Given the description of an element on the screen output the (x, y) to click on. 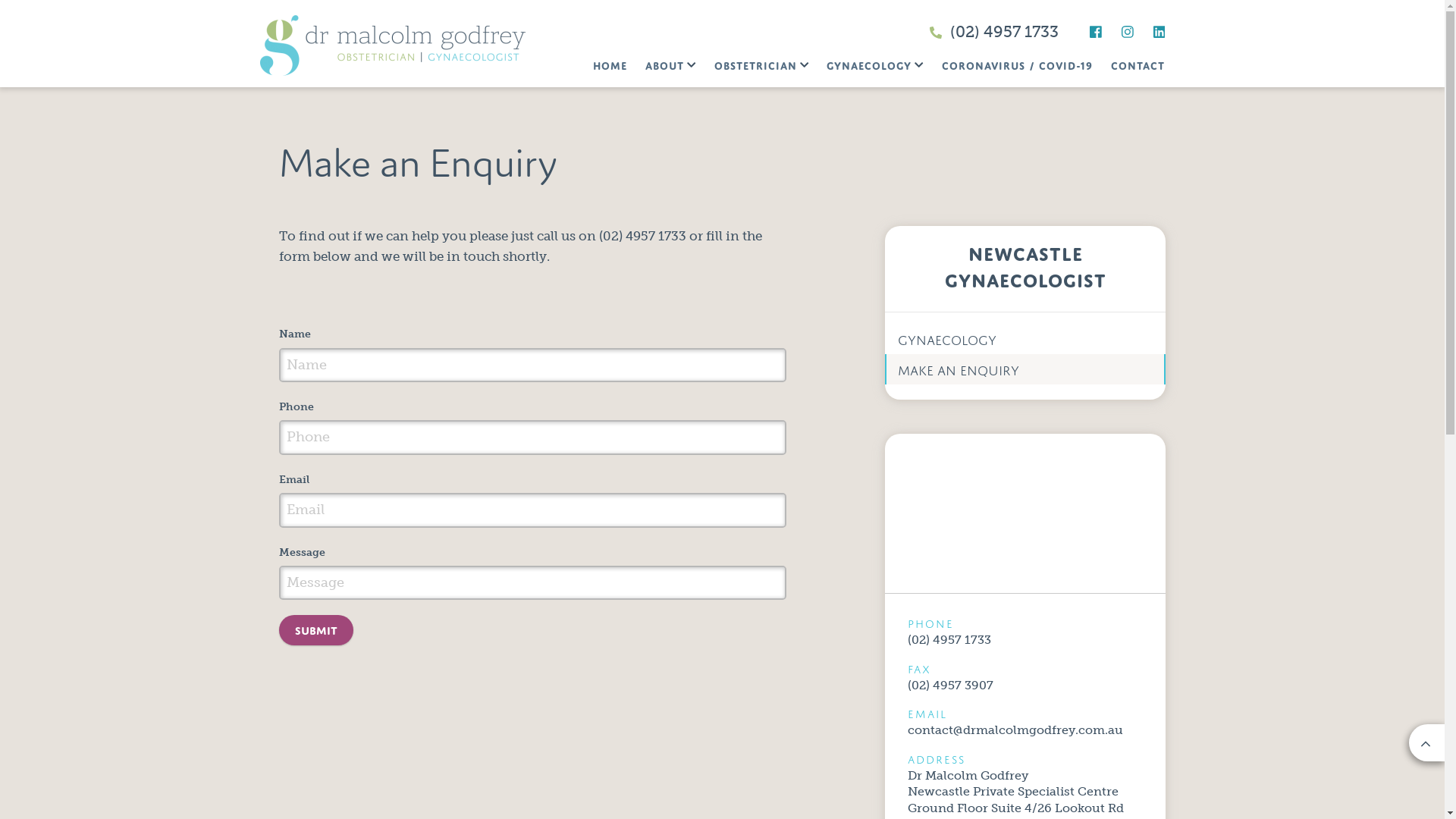
(02) 4957 1733 Element type: text (993, 27)
CONTACT Element type: text (1137, 64)
contact@drmalcolmgodfrey.com.au Element type: text (1015, 729)
OBSTETRICIAN Element type: text (761, 64)
GYNAECOLOGY Element type: text (1024, 338)
ABOUT Element type: text (670, 64)
Newcastle Gynaecologist Element type: text (1025, 263)
MAKE AN ENQUIRY Element type: text (1024, 369)
SUBMIT Element type: text (316, 630)
(02) 4957 1733 Element type: text (949, 639)
GYNAECOLOGY Element type: text (874, 64)
CORONAVIRUS / COVID-19 Element type: text (1016, 64)
HOME Element type: text (610, 64)
